Given the description of an element on the screen output the (x, y) to click on. 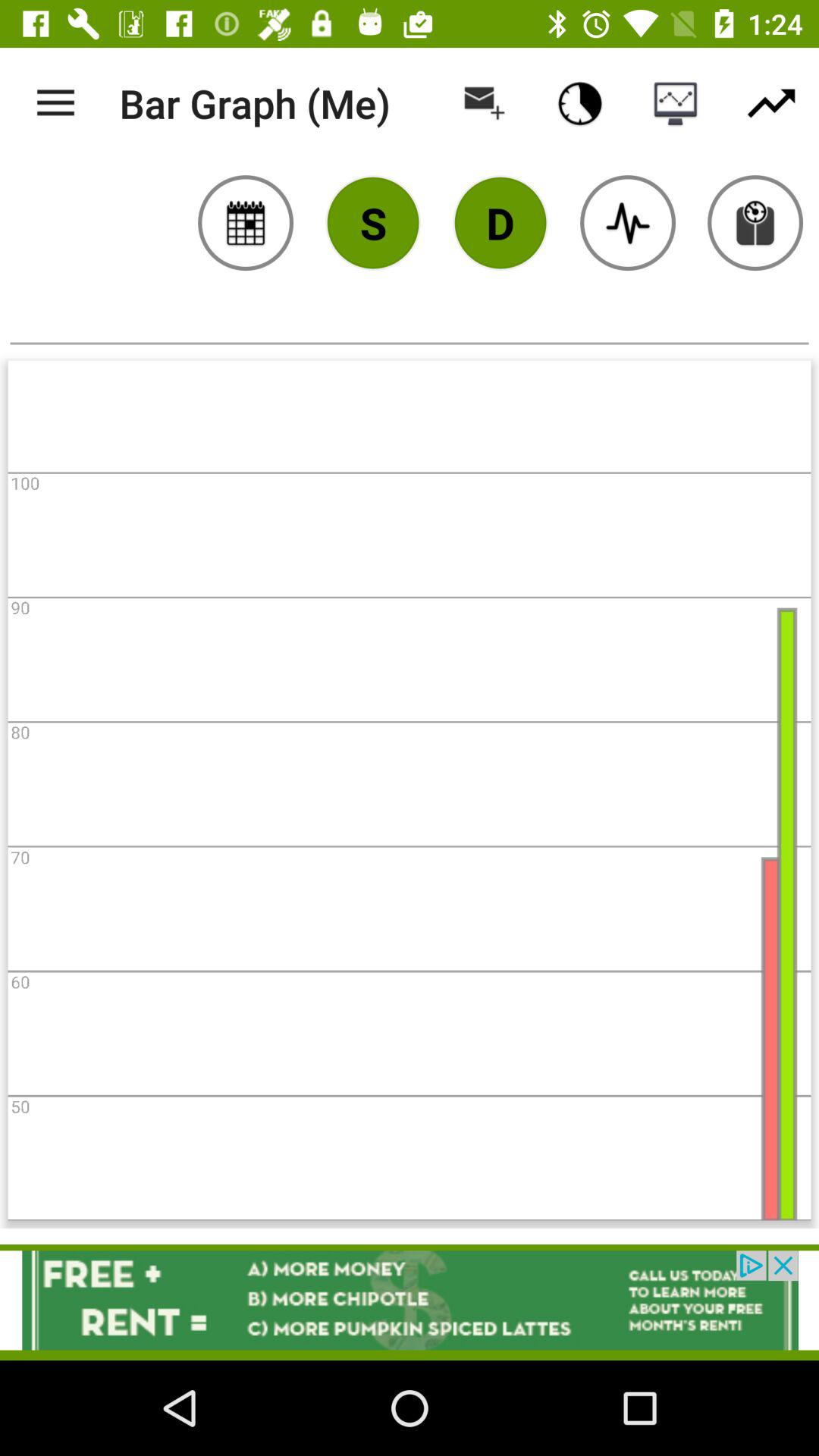
advertisement area (409, 1300)
